Given the description of an element on the screen output the (x, y) to click on. 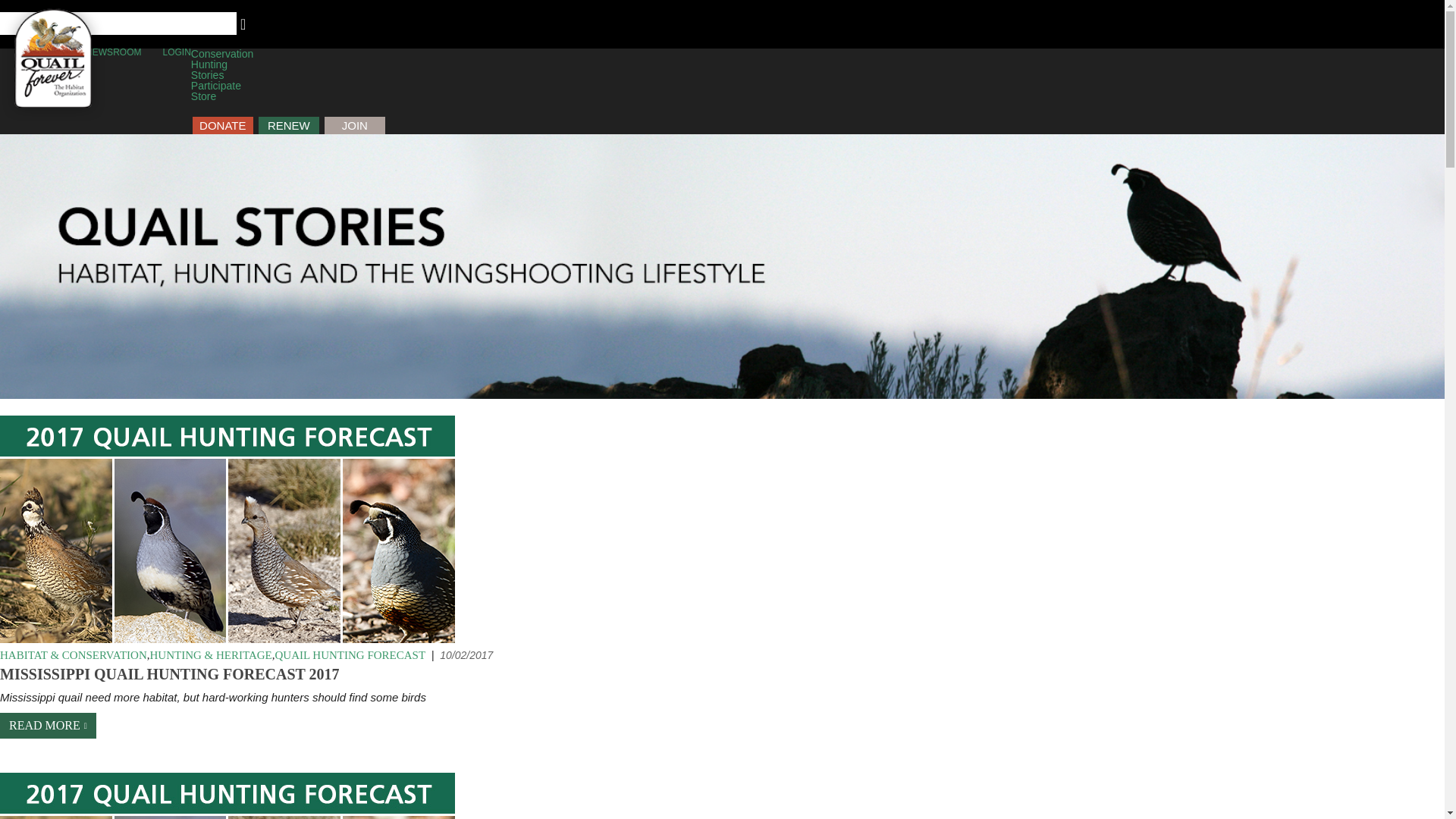
Store (202, 96)
QUAIL HUNTING FORECAST (350, 654)
Participate (215, 85)
READ MORE (48, 725)
Conservation (221, 53)
Hunting (208, 64)
JOIN (354, 125)
Stories (207, 74)
DONATE (222, 125)
RENEW (288, 125)
NEWSROOM (113, 52)
MISSISSIPPI QUAIL HUNTING FORECAST 2017 (169, 674)
ABOUT US (40, 52)
